Given the description of an element on the screen output the (x, y) to click on. 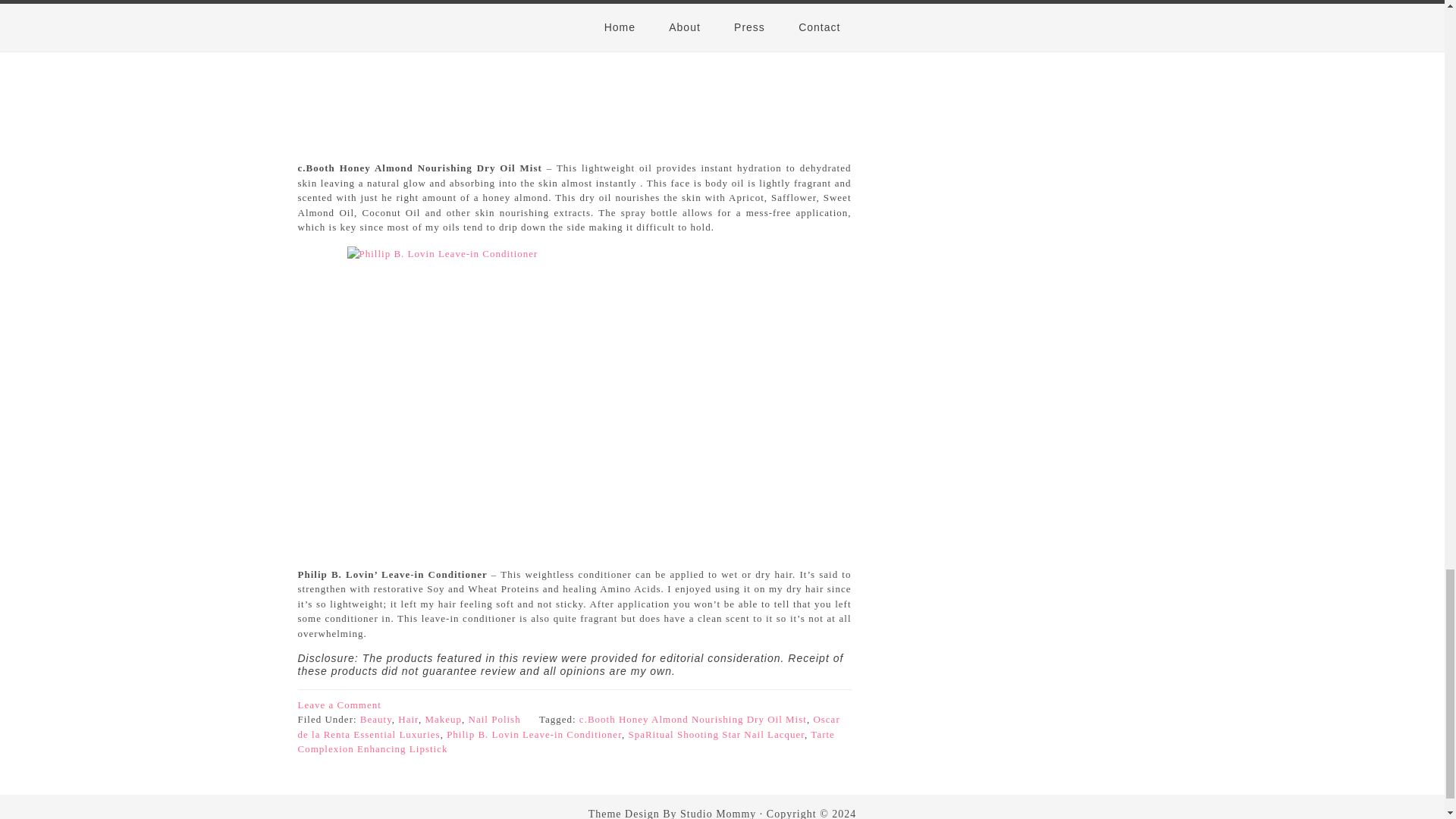
Nail Polish (494, 718)
c.Booth Honey Almond Nourishing Dry Oil Mist (692, 718)
Makeup (443, 718)
Tarte Complexion Enhancing Lipstick (565, 741)
Philip B. Lovin Leave-in Conditioner (533, 734)
Oscar de la Renta Essential Luxuries (568, 726)
Leave a Comment (338, 704)
Beauty (375, 718)
SpaRitual Shooting Star Nail Lacquer (716, 734)
Hair (408, 718)
